Given the description of an element on the screen output the (x, y) to click on. 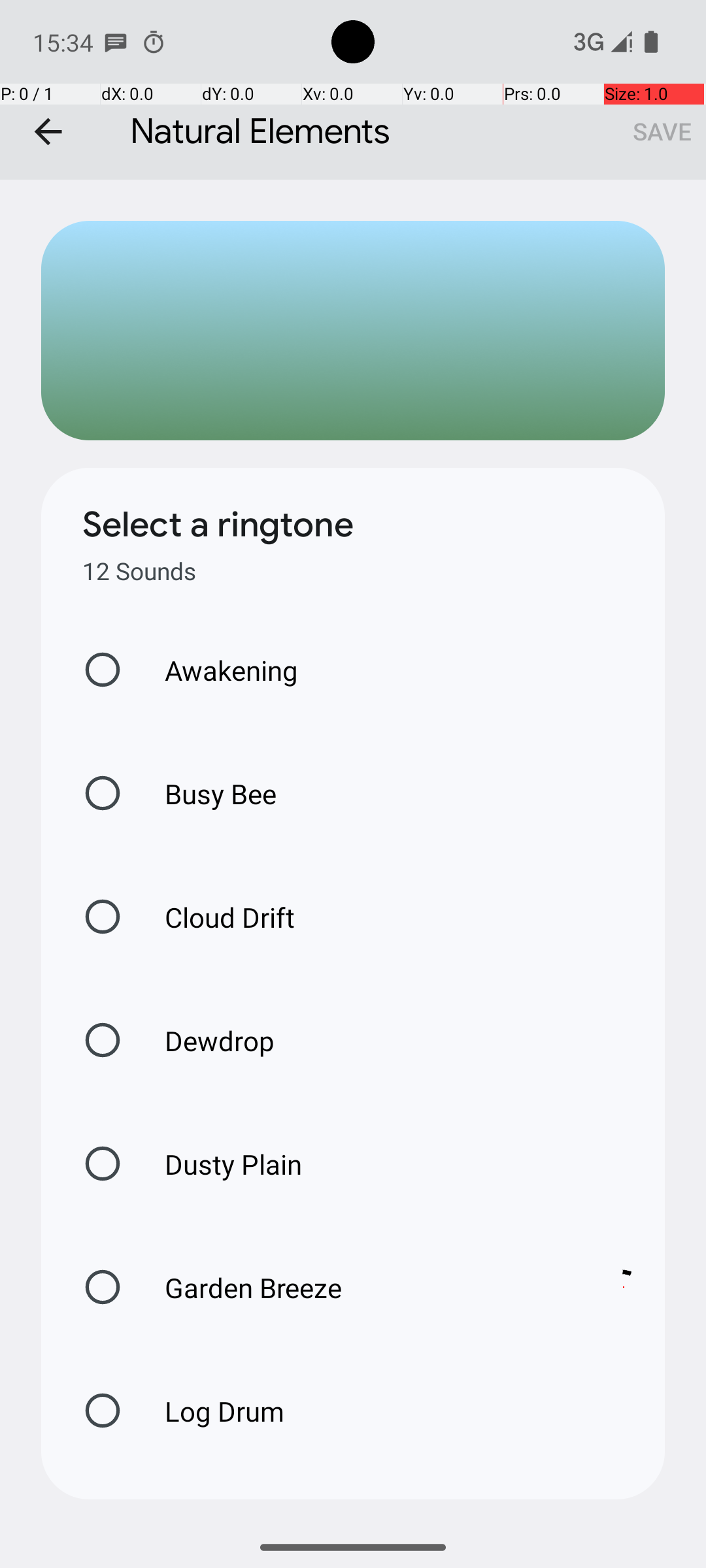
Awakening Element type: android.widget.TextView (217, 669)
Busy Bee Element type: android.widget.TextView (206, 793)
Cloud Drift Element type: android.widget.TextView (215, 916)
Dewdrop Element type: android.widget.TextView (205, 1040)
Dusty Plain Element type: android.widget.TextView (219, 1163)
Garden Breeze Element type: android.widget.TextView (359, 1287)
Download in progress Element type: android.widget.ImageView (623, 1286)
Log Drum Element type: android.widget.TextView (210, 1410)
